Given the description of an element on the screen output the (x, y) to click on. 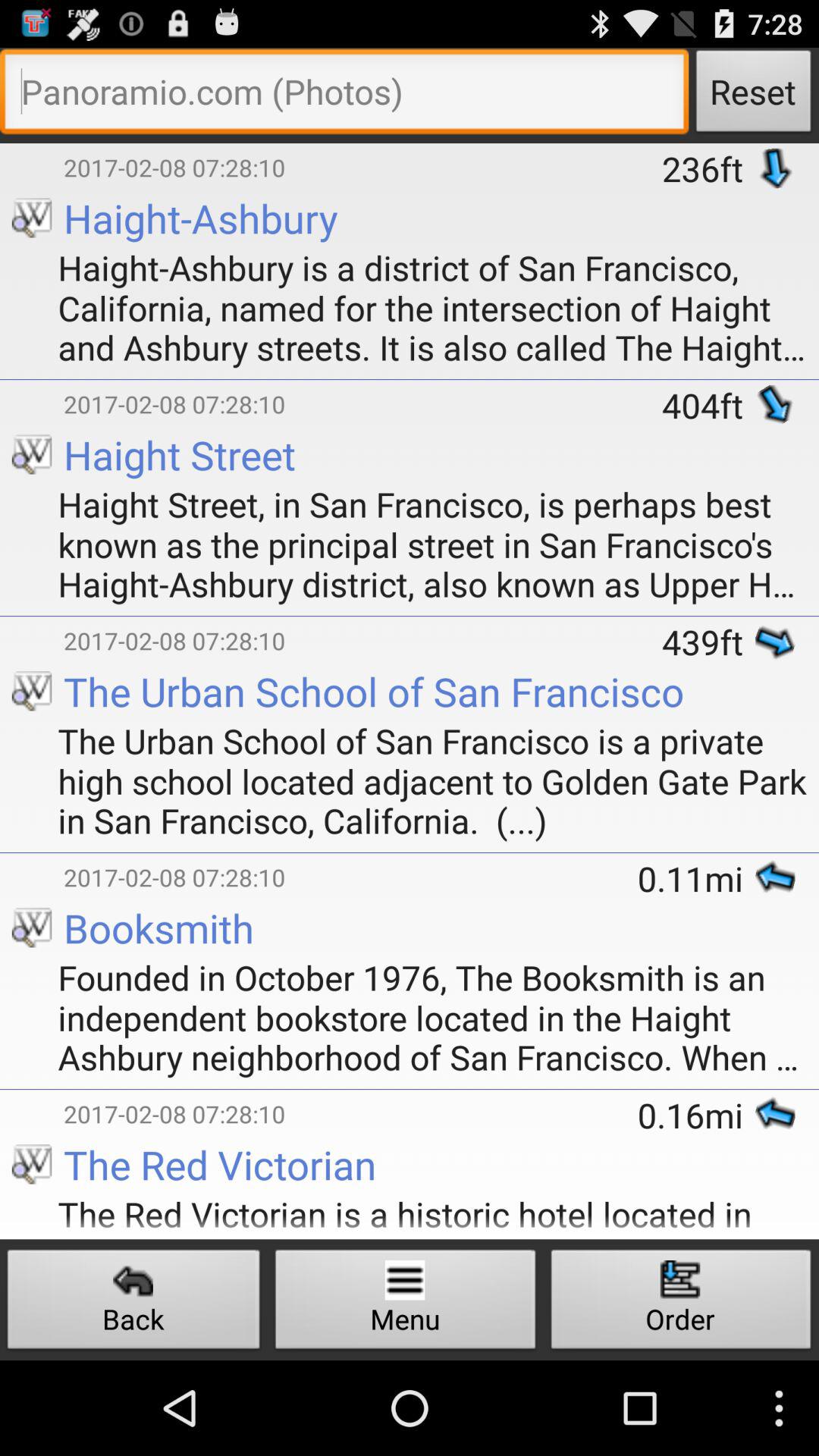
scroll to 236ft icon (708, 168)
